Given the description of an element on the screen output the (x, y) to click on. 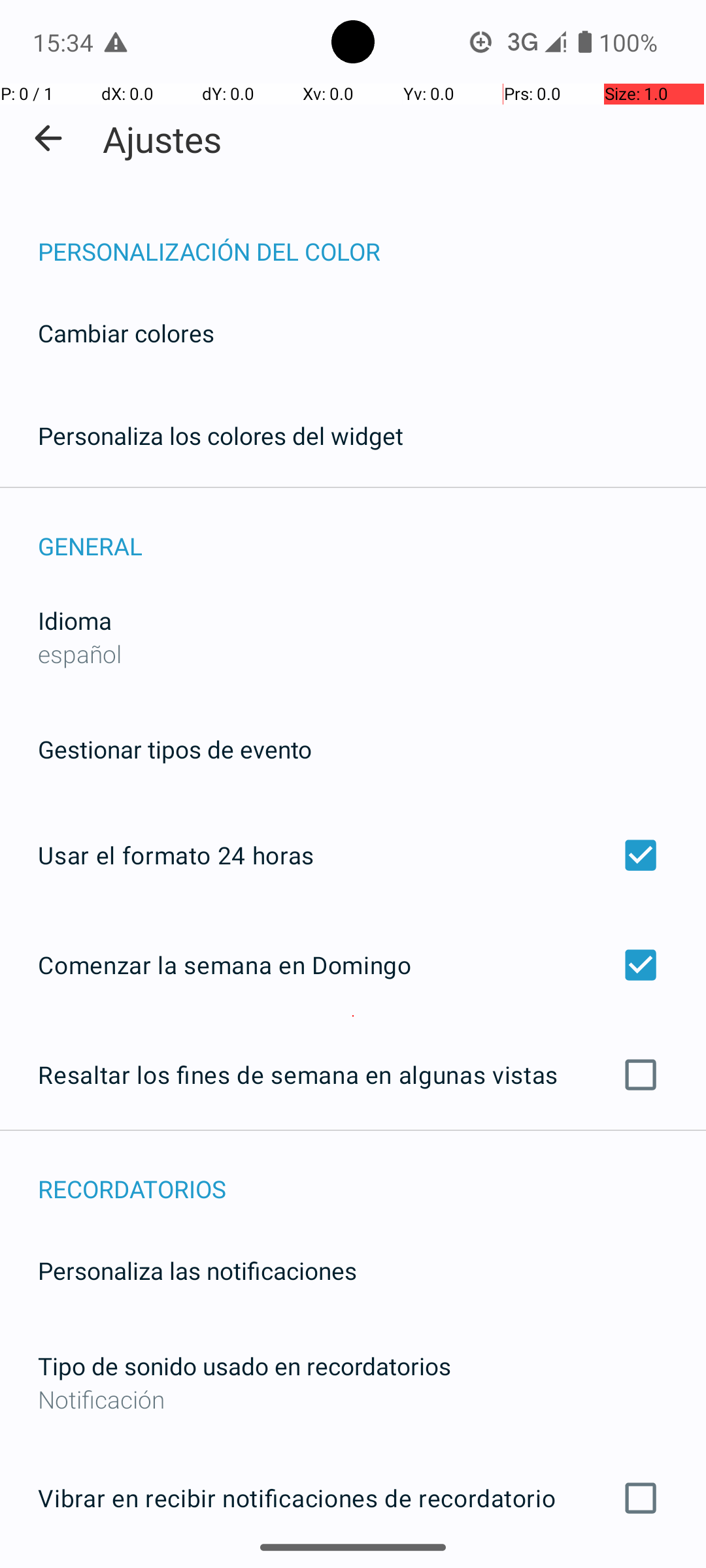
PERSONALIZACIÓN DEL COLOR Element type: android.widget.TextView (371, 237)
GENERAL Element type: android.widget.TextView (371, 532)
RECORDATORIOS Element type: android.widget.TextView (371, 1174)
Cambiar colores Element type: android.widget.TextView (125, 332)
Personaliza los colores del widget Element type: android.widget.TextView (220, 435)
Idioma Element type: android.widget.TextView (74, 620)
español Element type: android.widget.TextView (79, 653)
Gestionar tipos de evento Element type: android.widget.TextView (174, 748)
Usar el formato 24 horas Element type: android.widget.CheckBox (352, 855)
Comenzar la semana en Domingo Element type: android.widget.CheckBox (352, 964)
Resaltar los fines de semana en algunas vistas Element type: android.widget.CheckBox (352, 1074)
Personaliza las notificaciones Element type: android.widget.TextView (196, 1270)
Tipo de sonido usado en recordatorios Element type: android.widget.TextView (244, 1365)
Notificación Element type: android.widget.TextView (352, 1398)
Vibrar en recibir notificaciones de recordatorio Element type: android.widget.CheckBox (352, 1497)
Repetir recordatorios hasta ser descartados Element type: android.widget.CheckBox (352, 1567)
